Given the description of an element on the screen output the (x, y) to click on. 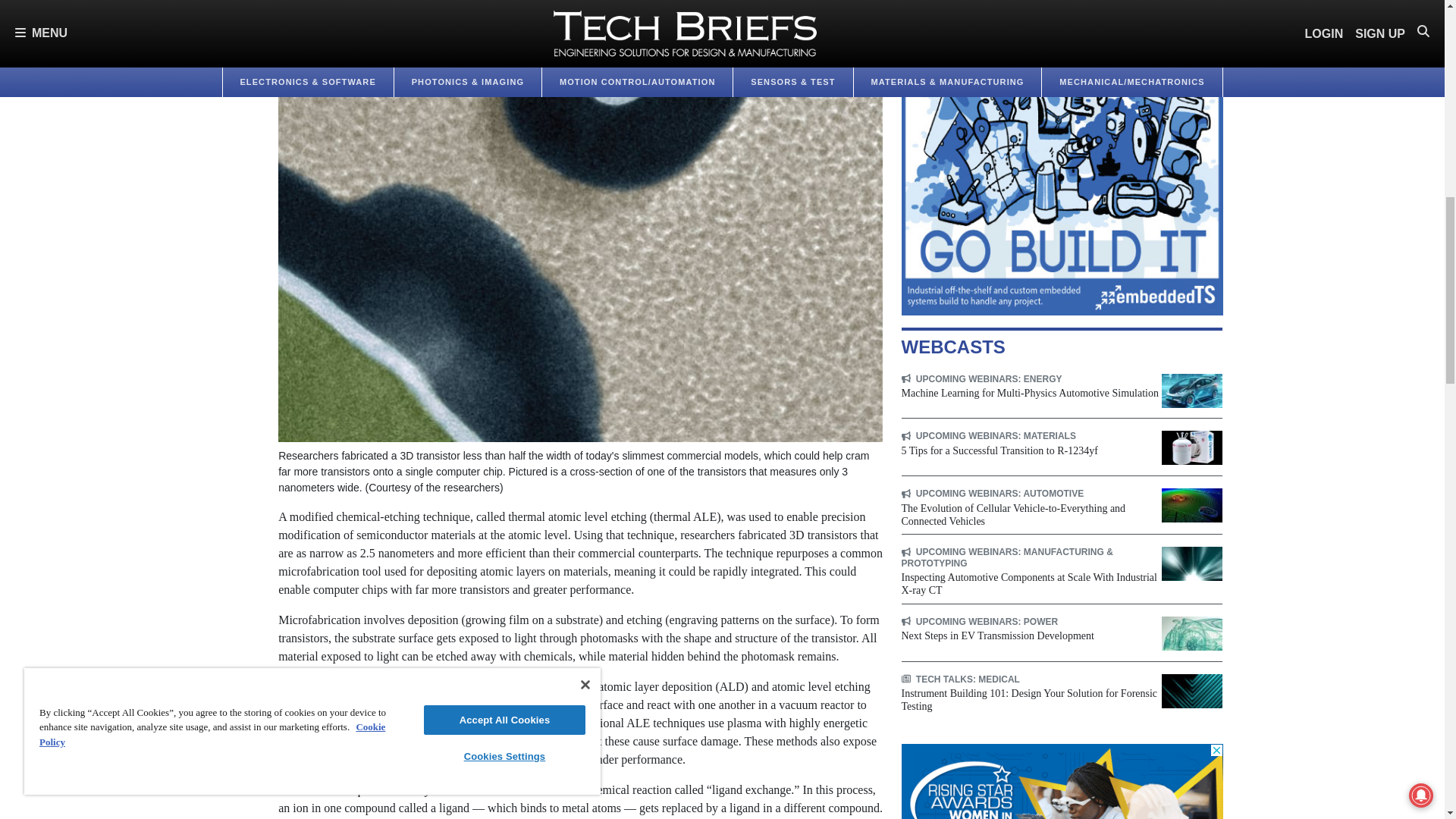
3rd party ad content (1062, 781)
3rd party ad content (1062, 157)
